Given the description of an element on the screen output the (x, y) to click on. 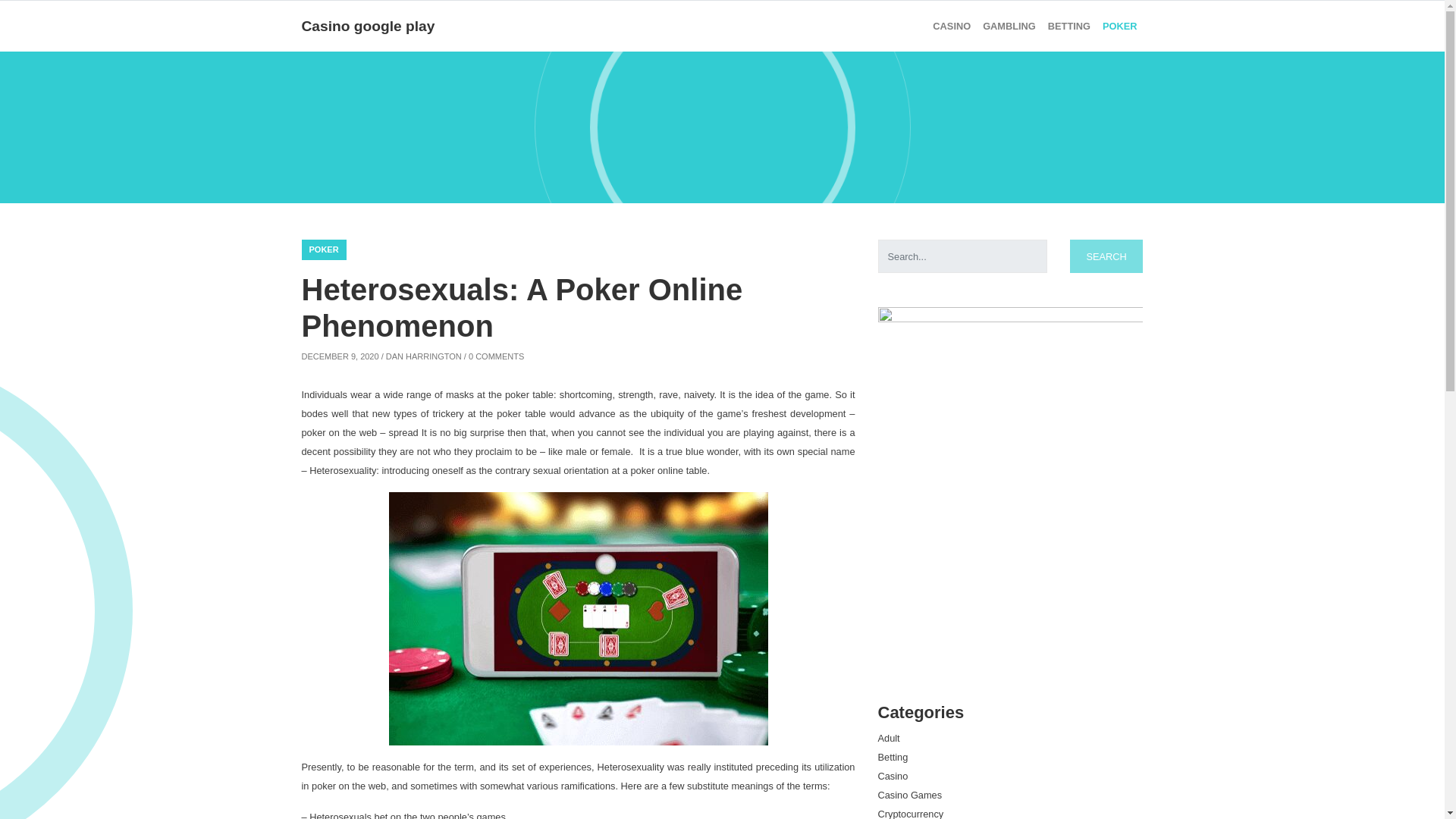
Betting (1069, 26)
CASINO (951, 26)
Casino Games (909, 794)
Cryptocurrency (910, 813)
POKER (323, 249)
Search (1106, 255)
Adult (888, 737)
BETTING (1069, 26)
Betting (892, 756)
Search (1106, 255)
